Given the description of an element on the screen output the (x, y) to click on. 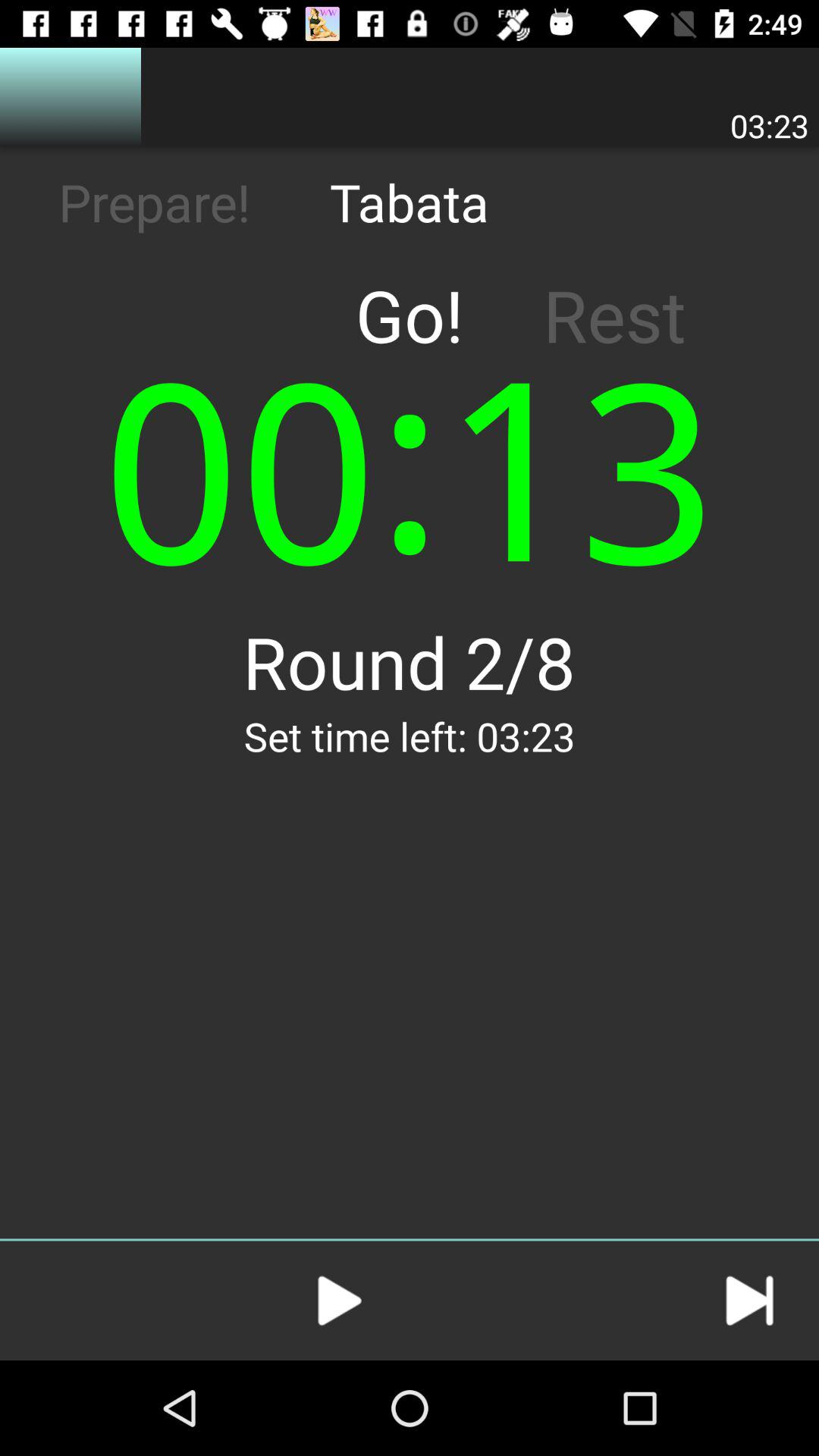
click to play (339, 1300)
